Given the description of an element on the screen output the (x, y) to click on. 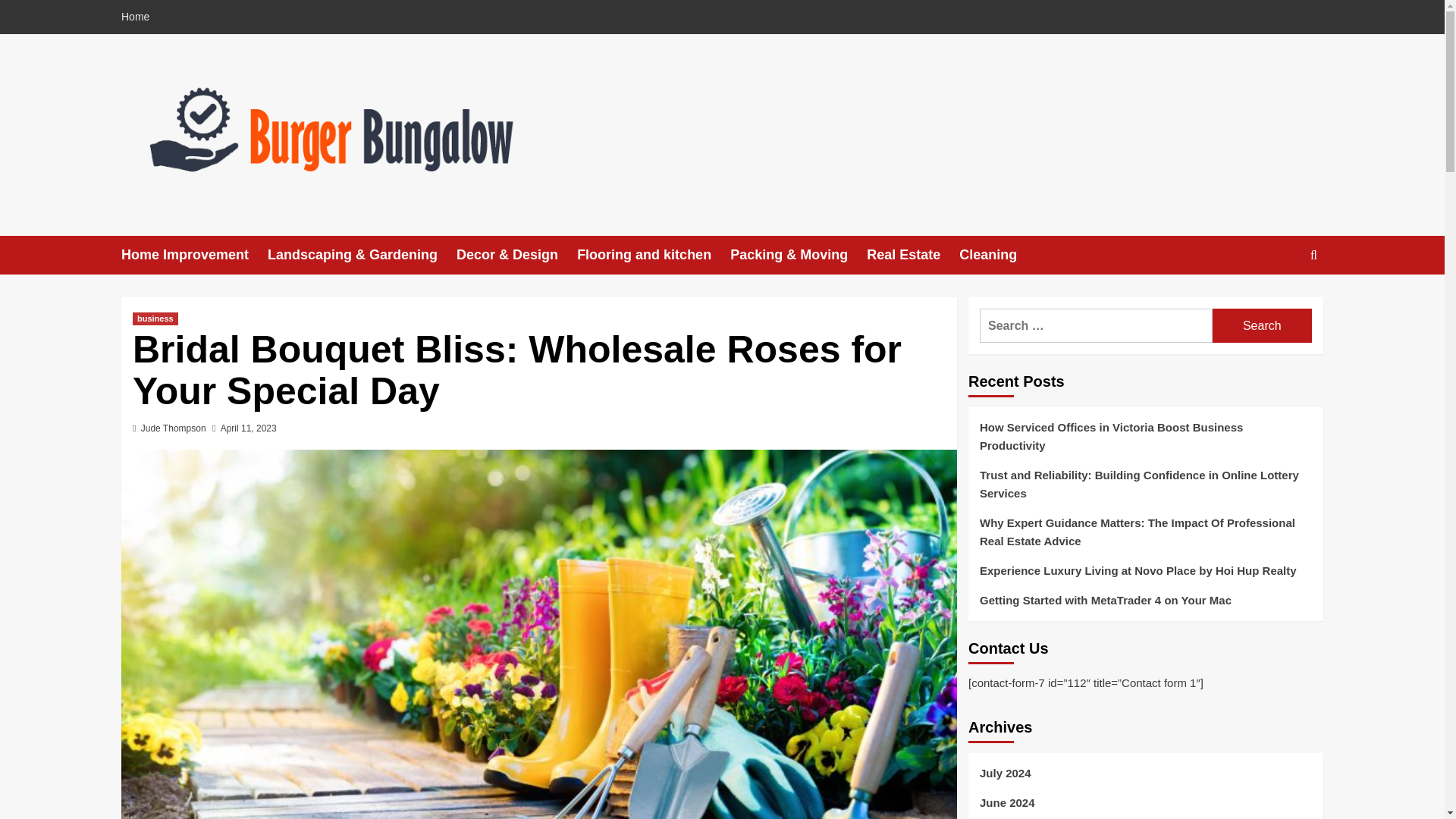
Search (1313, 254)
Home (138, 17)
Search (1278, 302)
business (154, 318)
Search (1261, 325)
April 11, 2023 (248, 428)
Cleaning (997, 254)
Jude Thompson (173, 428)
Flooring and kitchen (653, 254)
Home Improvement (193, 254)
Real Estate (912, 254)
Search (1261, 325)
How Serviced Offices in Victoria Boost Business Productivity (1145, 442)
Search (1261, 325)
